Given the description of an element on the screen output the (x, y) to click on. 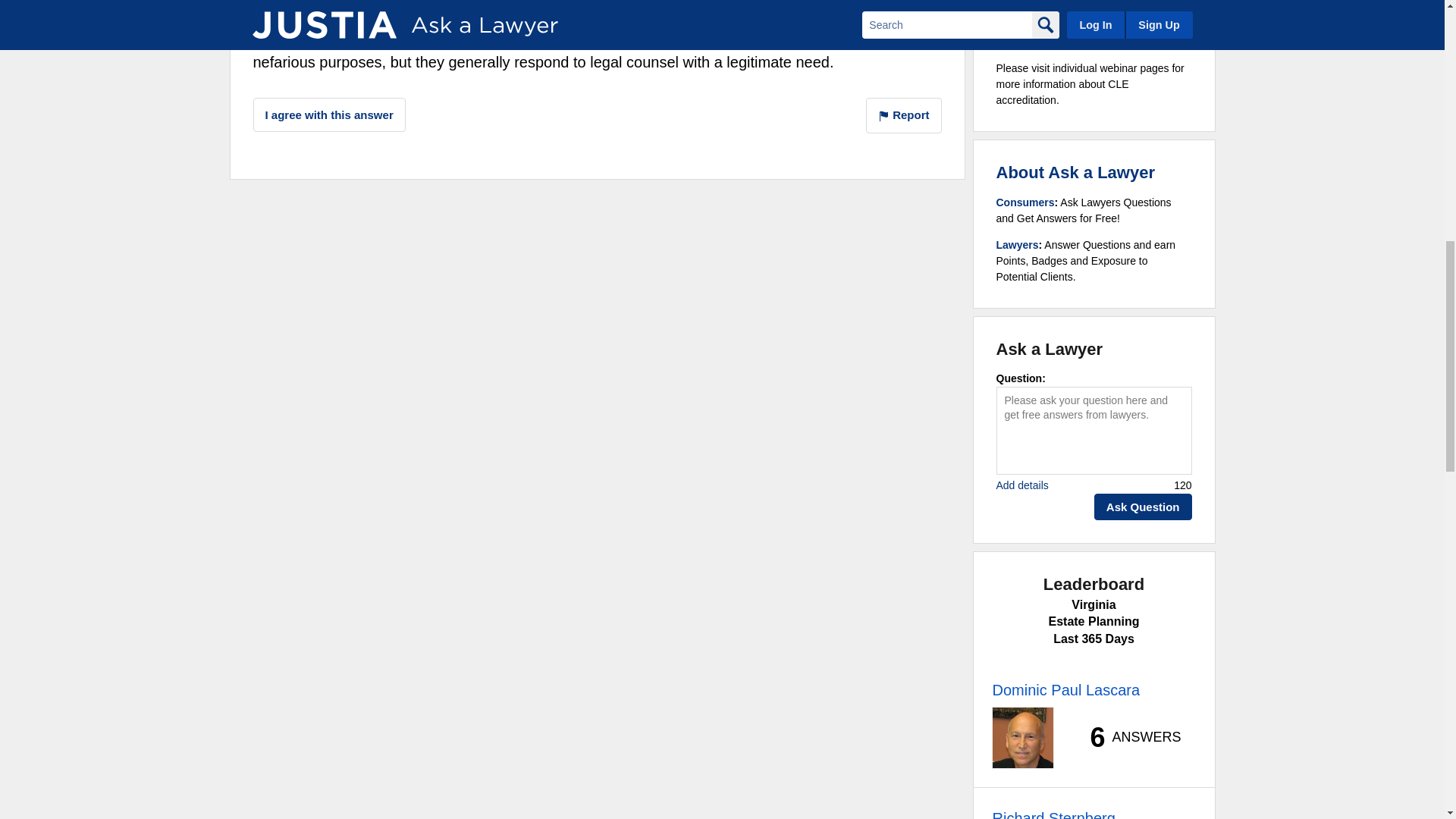
Ask a Lawyer - Leaderboard - Lawyer Photo (1021, 737)
Ask a Lawyer - Leaderboard - Lawyer Stats (1127, 737)
Ask a Lawyer - FAQs - Consumers (1024, 202)
Ask a Lawyer - FAQs - Lawyers (1017, 244)
Ask a Lawyer - Leaderboard - Lawyer Name (1053, 812)
Ask a Lawyer - Leaderboard - Lawyer Name (1065, 689)
